Given the description of an element on the screen output the (x, y) to click on. 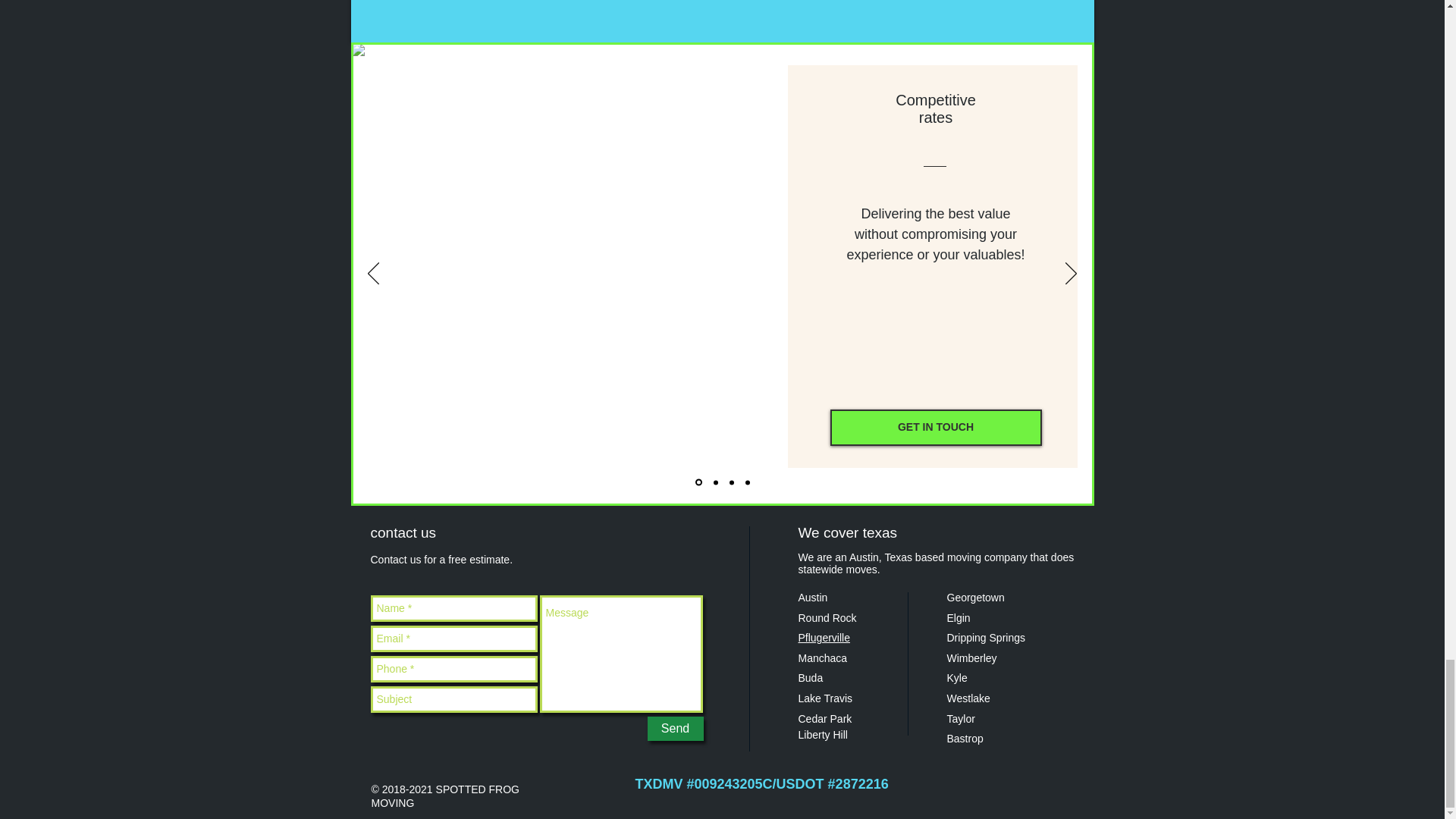
Send (675, 728)
GET IN TOUCH (935, 427)
Pflugerville (822, 637)
